Given the description of an element on the screen output the (x, y) to click on. 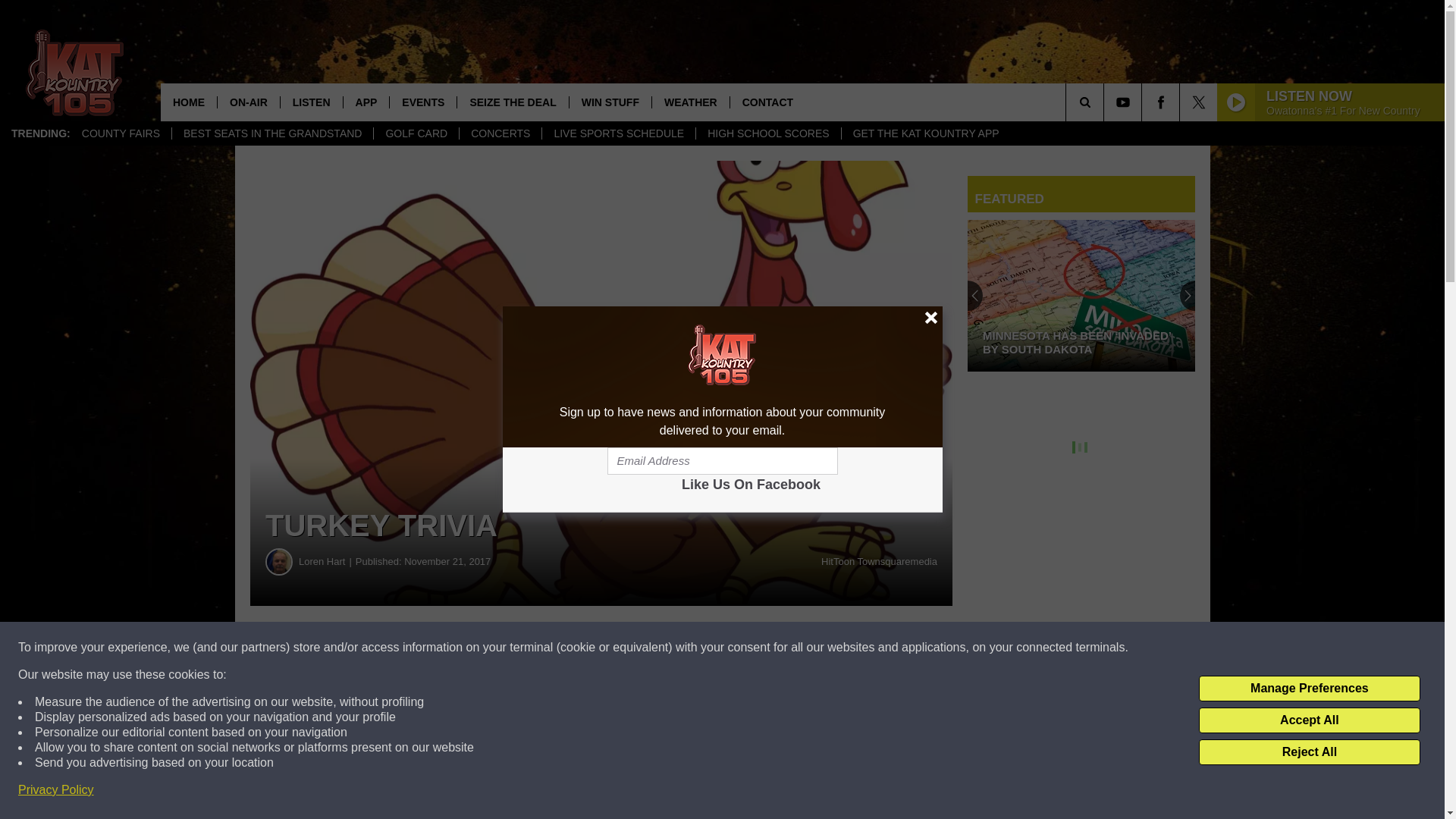
APP (366, 102)
GOLF CARD (415, 133)
Share on Facebook (460, 647)
Manage Preferences (1309, 688)
Share on Twitter (741, 647)
SEARCH (1106, 102)
CONCERTS (499, 133)
HIGH SCHOOL SCORES (768, 133)
BEST SEATS IN THE GRANDSTAND (271, 133)
Reject All (1309, 751)
HOME (188, 102)
COUNTY FAIRS (120, 133)
LISTEN (310, 102)
Privacy Policy (55, 789)
EVENTS (422, 102)
